Given the description of an element on the screen output the (x, y) to click on. 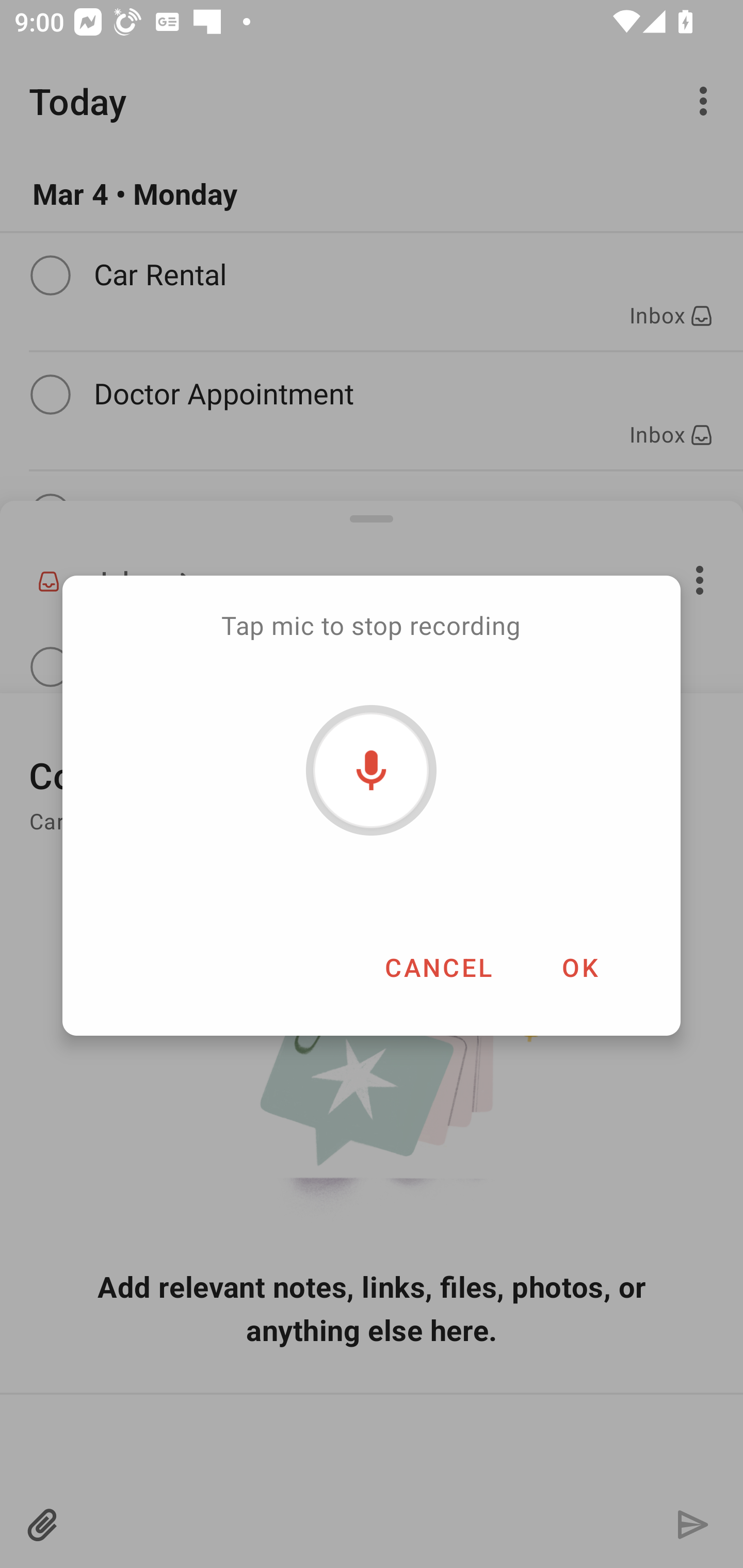
CANCEL (438, 966)
OK (579, 966)
